Given the description of an element on the screen output the (x, y) to click on. 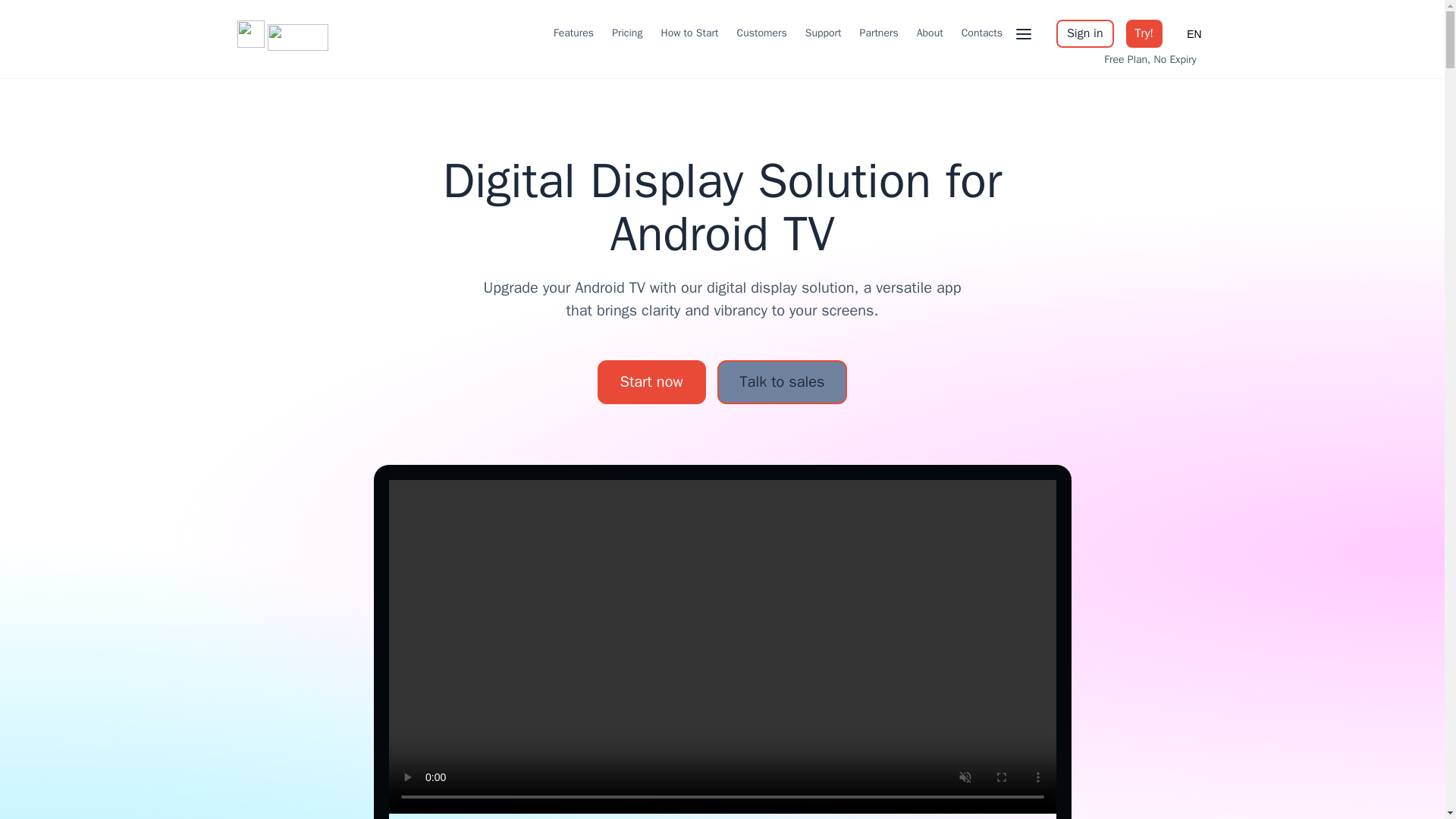
Features (573, 33)
Customers (761, 33)
Sign in (1085, 33)
Contacts (981, 33)
Partners (879, 33)
How to Start (689, 33)
Talk to sales (782, 382)
Support (823, 33)
Pricing (626, 33)
Start now (651, 382)
Try! (1144, 33)
About (930, 33)
